Given the description of an element on the screen output the (x, y) to click on. 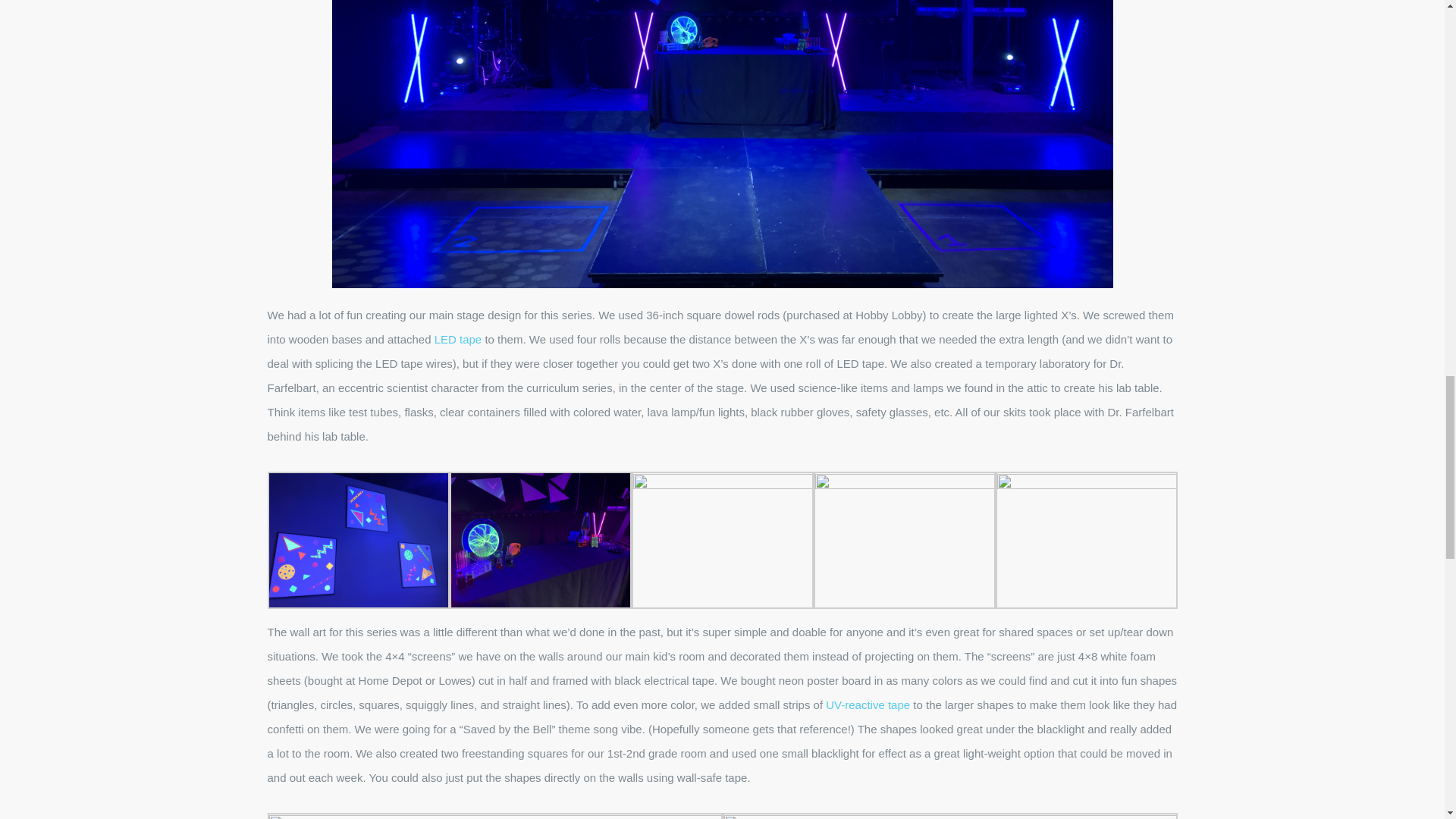
LED tape (457, 338)
UV-reactive tape (867, 704)
